Given the description of an element on the screen output the (x, y) to click on. 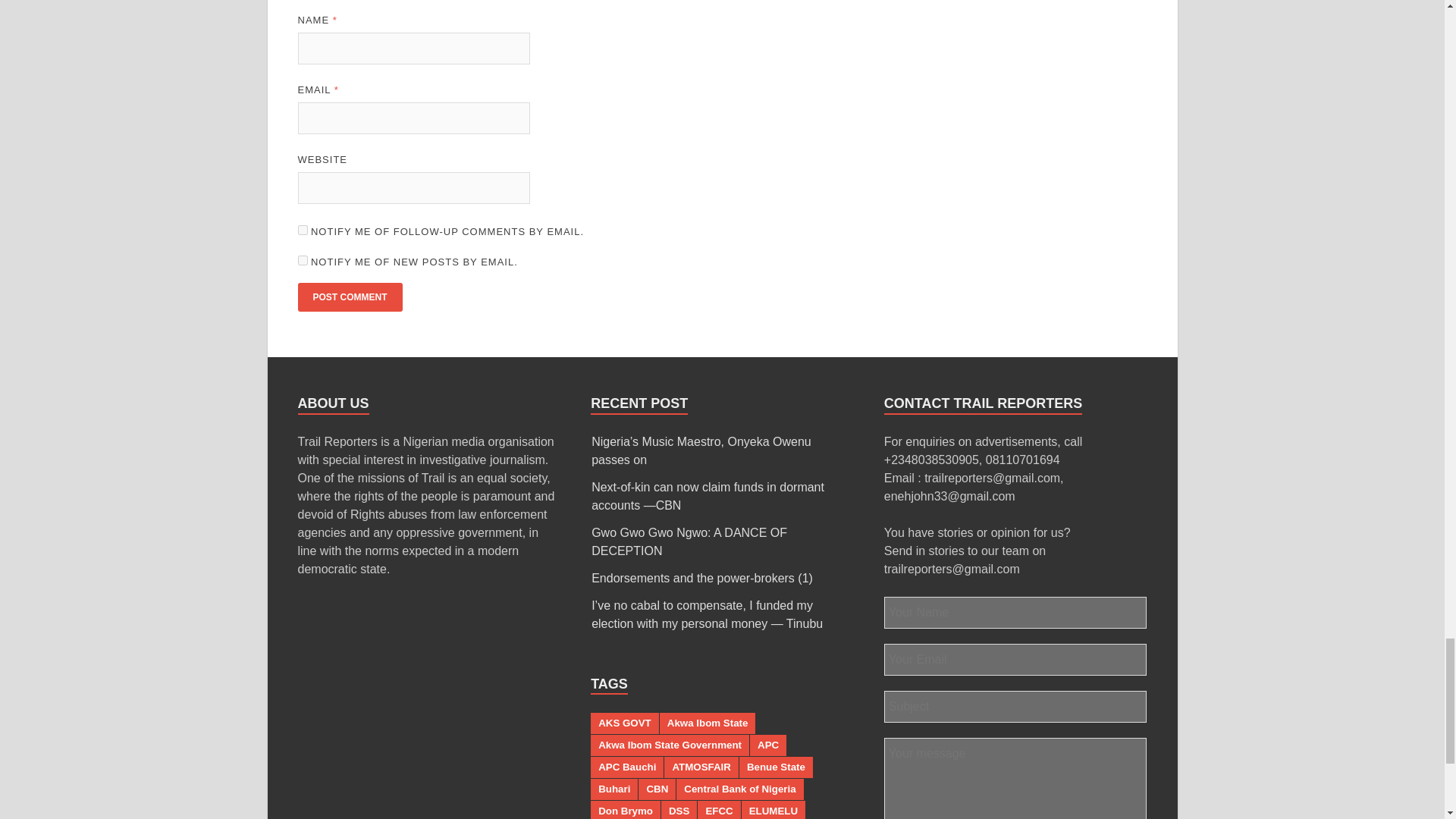
subscribe (302, 260)
subscribe (302, 230)
Post Comment (349, 297)
